Given the description of an element on the screen output the (x, y) to click on. 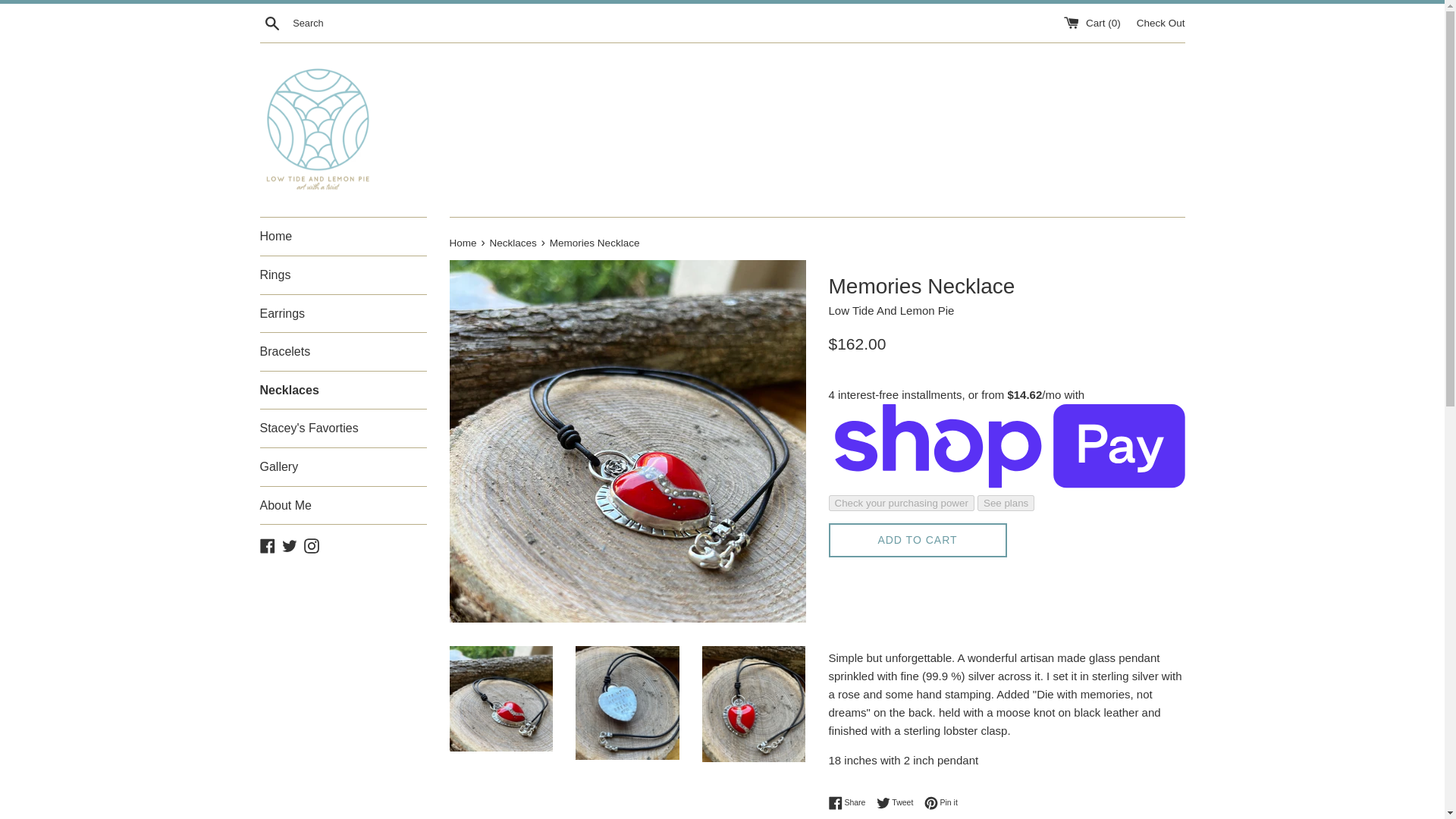
Stacey's Favorties (342, 428)
Share on Facebook (850, 802)
Gallery (342, 466)
Back to the frontpage (463, 242)
Home (463, 242)
Pin on Pinterest (941, 802)
Necklaces (941, 802)
Check Out (342, 390)
Tweet on Twitter (1161, 21)
